Given the description of an element on the screen output the (x, y) to click on. 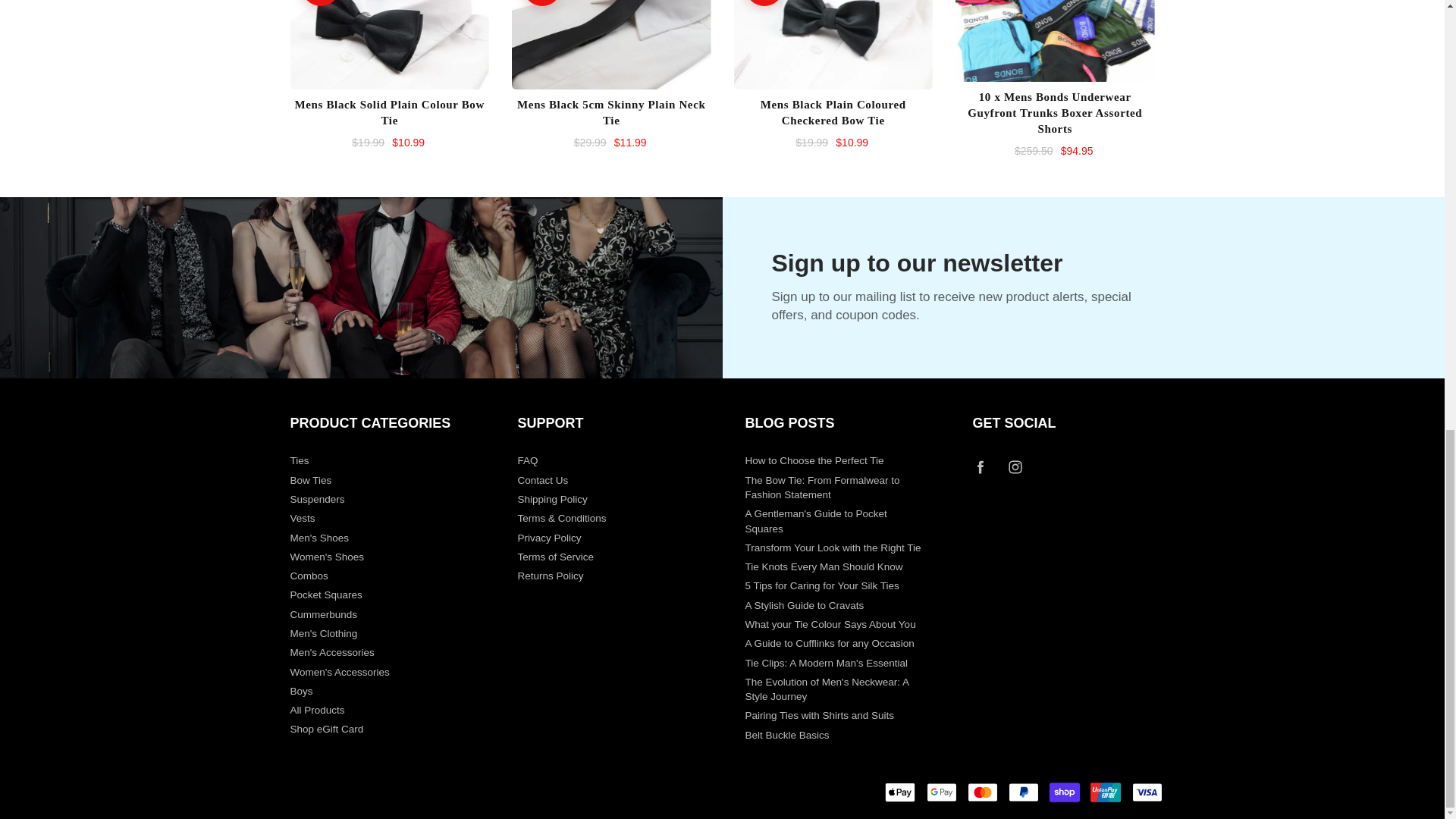
Facebook (981, 466)
Union Pay (1105, 792)
Mastercard (982, 792)
Shop Pay (1064, 792)
Apple Pay (900, 792)
Google Pay (941, 792)
PayPal (1024, 792)
Visa (1146, 792)
Instagram (1014, 466)
